Given the description of an element on the screen output the (x, y) to click on. 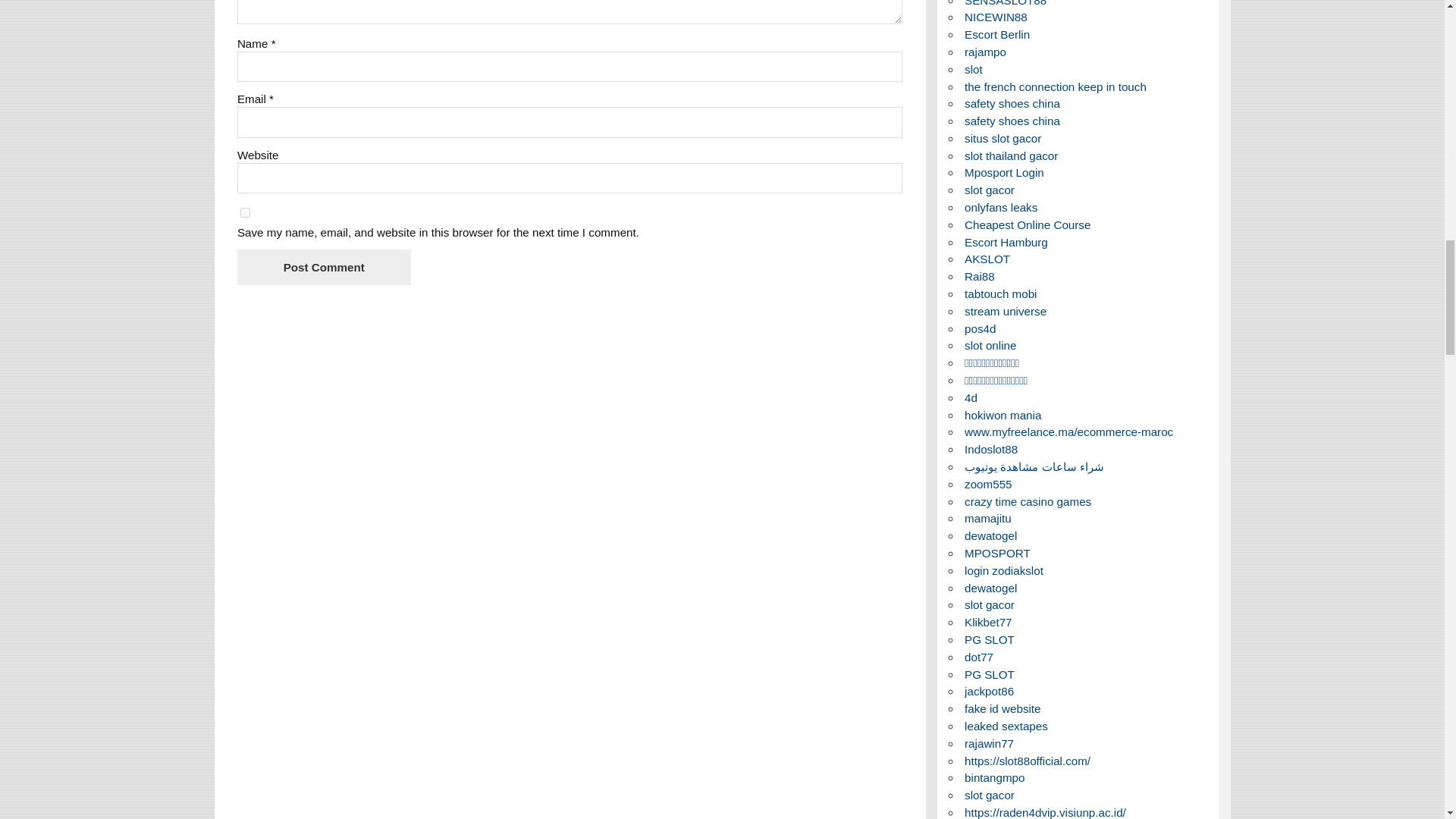
Post Comment (323, 267)
Post Comment (323, 267)
yes (245, 212)
